Given the description of an element on the screen output the (x, y) to click on. 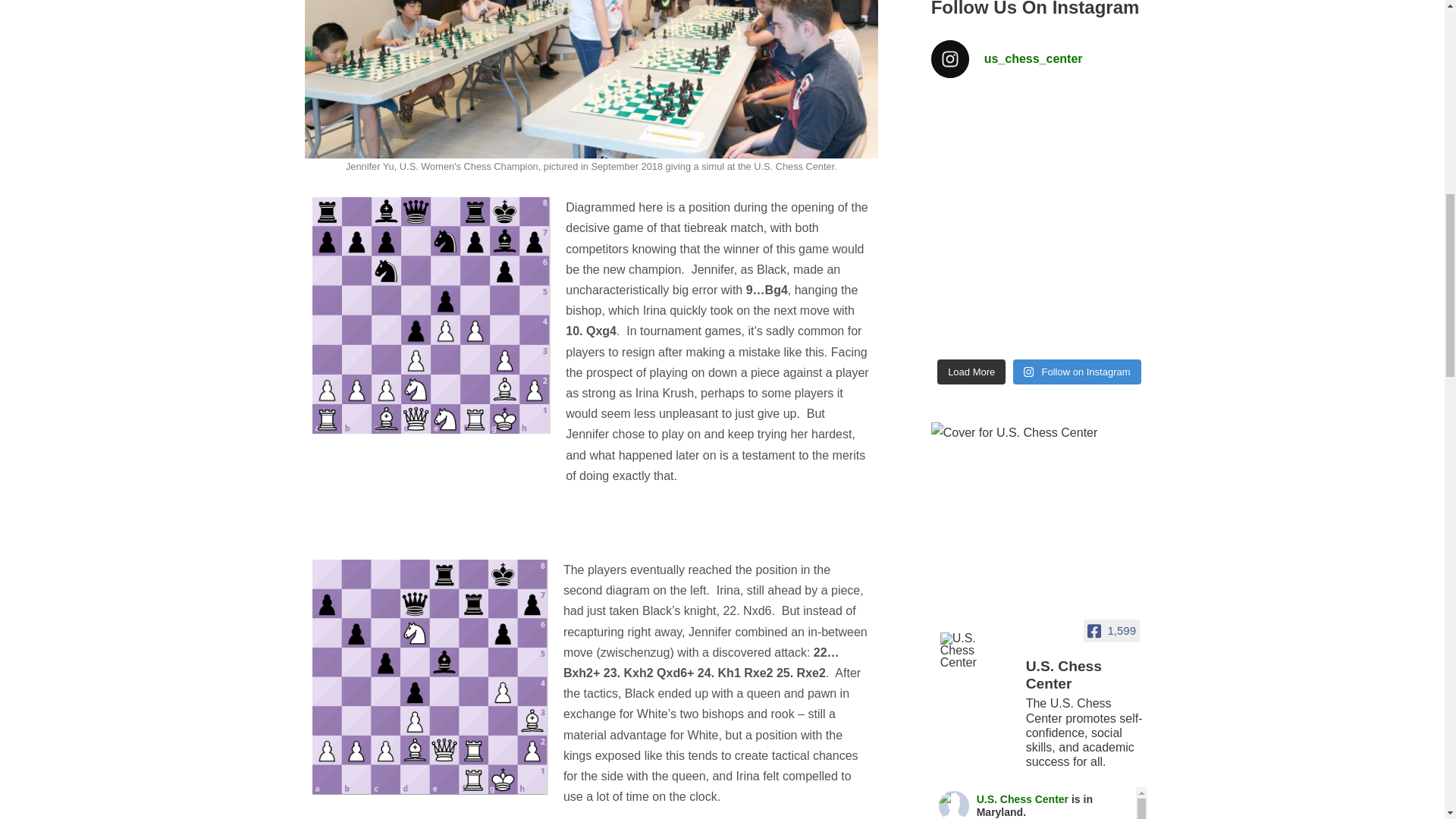
U.S. Chess Center (1086, 676)
U.S. Chess Center (954, 805)
U.S. Chess Center (976, 650)
